Given the description of an element on the screen output the (x, y) to click on. 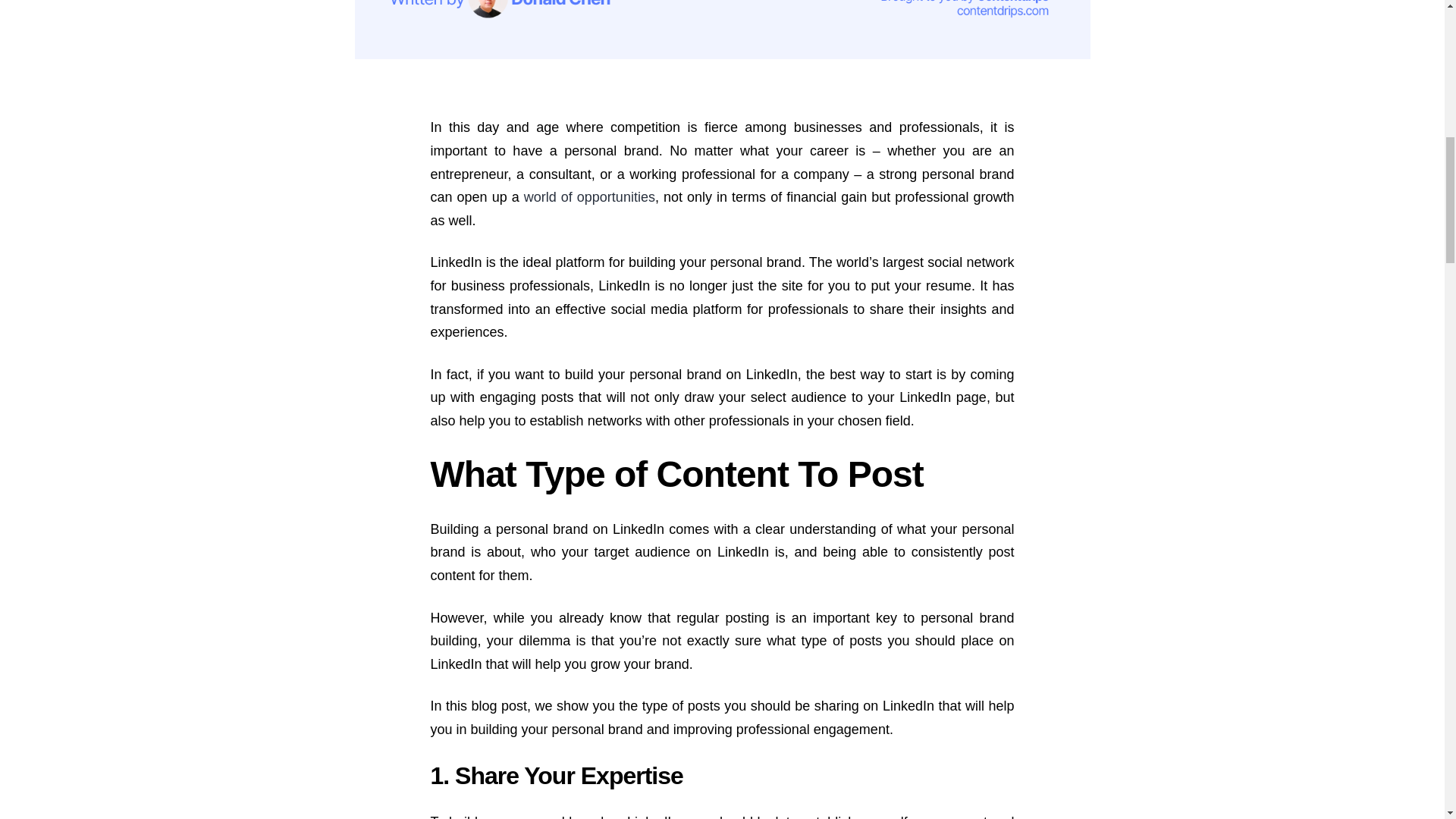
world of opportunities (589, 196)
